Given the description of an element on the screen output the (x, y) to click on. 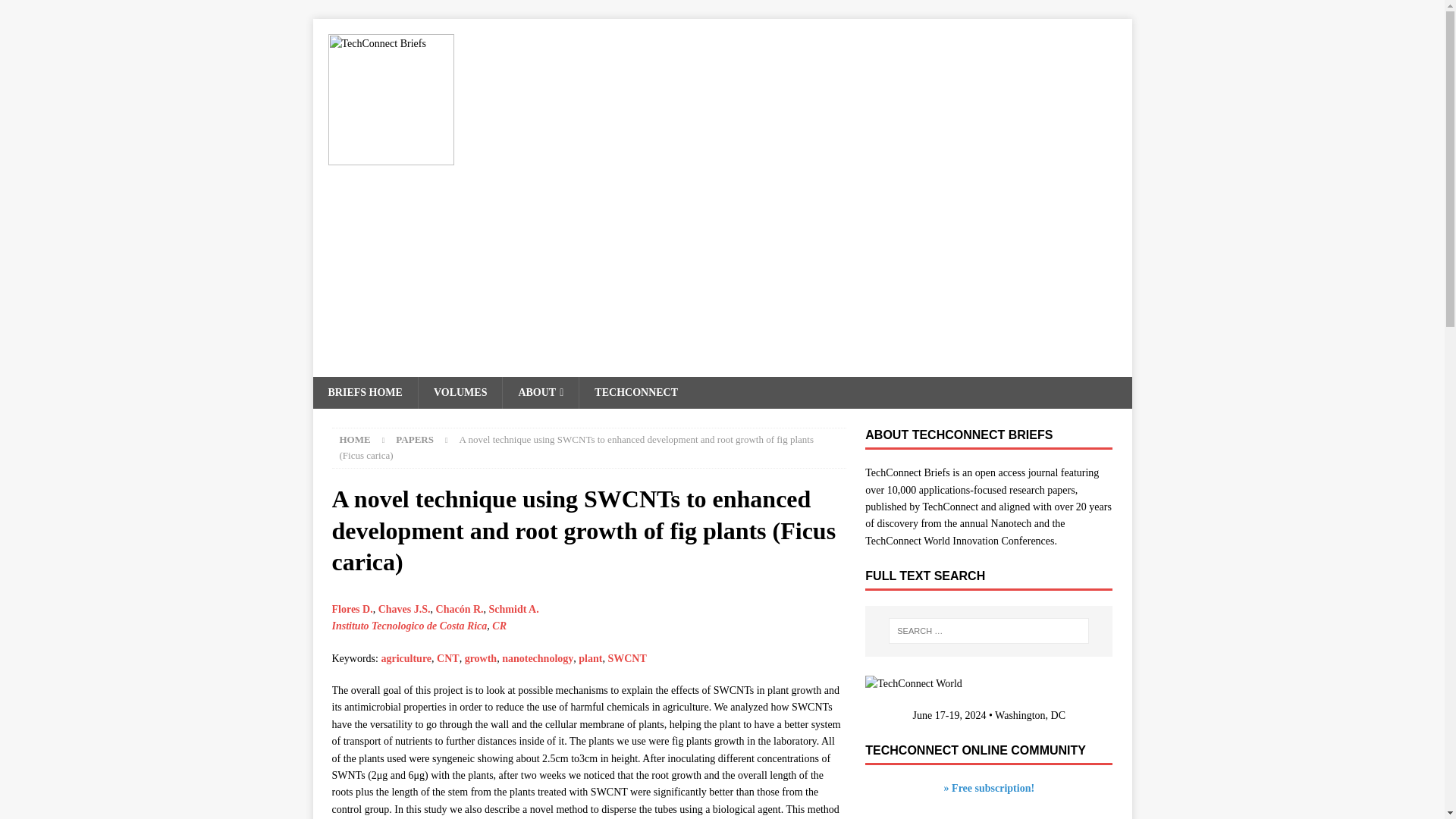
Papers (414, 439)
TECHCONNECT (635, 392)
growth (480, 658)
nanotechnology (537, 658)
PAPERS (414, 439)
BRIEFS HOME (364, 392)
Flores D. (351, 609)
VOLUMES (459, 392)
ABOUT (540, 392)
Schmidt A. (513, 609)
CR (499, 625)
Search (56, 11)
Instituto Tecnologico de Costa Rica (409, 625)
plant (590, 658)
Chaves J.S. (404, 609)
